Given the description of an element on the screen output the (x, y) to click on. 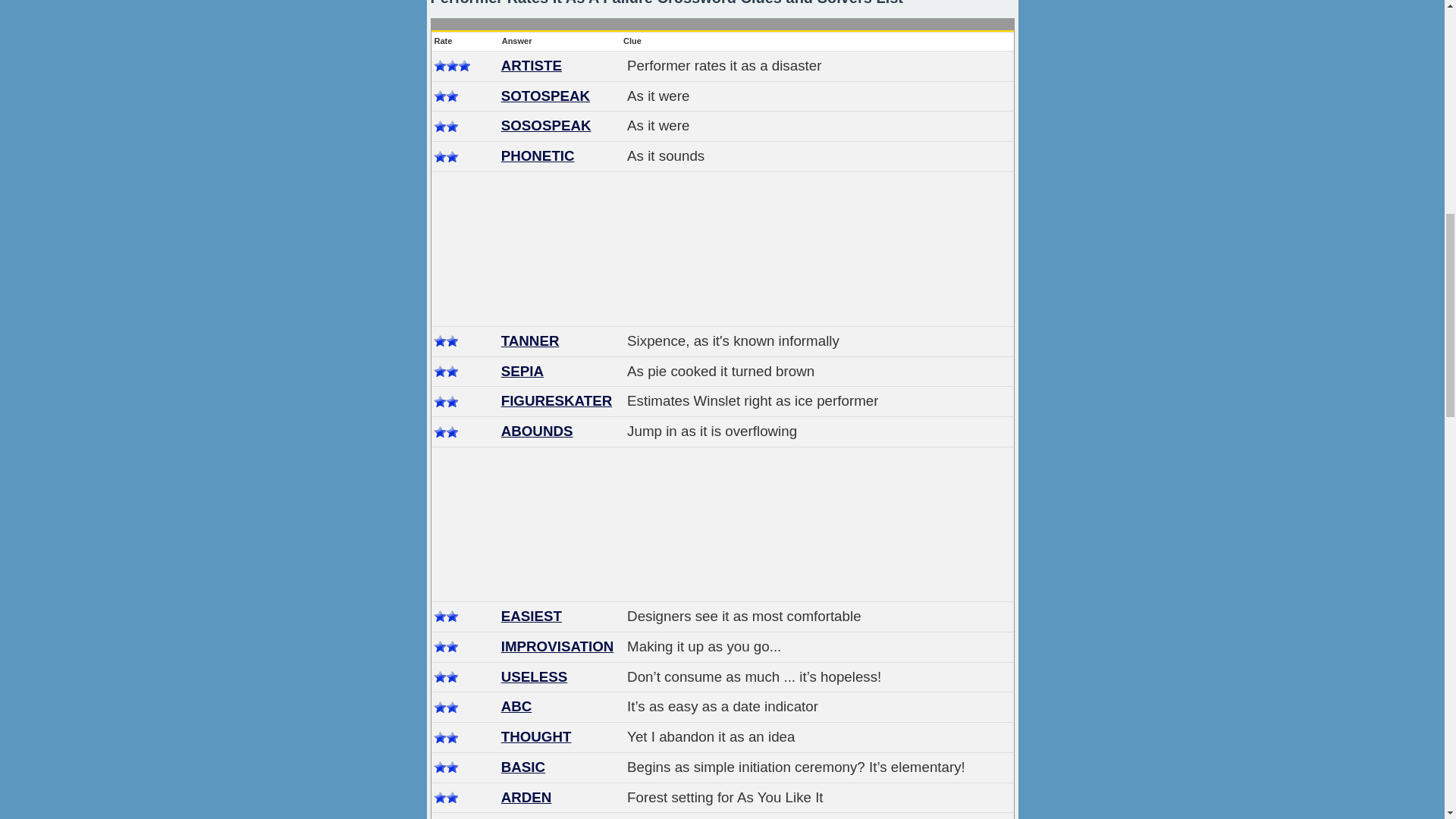
SOTOSPEAK (544, 95)
PHONETIC (537, 155)
ARTISTE (531, 65)
EASIEST (531, 616)
ABOUNDS (536, 430)
USELESS (533, 676)
Advertisement (722, 248)
IMPROVISATION (557, 646)
ARDEN (525, 797)
SOSOSPEAK (545, 125)
ABC (516, 706)
SEPIA (521, 371)
THOUGHT (536, 736)
Advertisement (722, 524)
BASIC (522, 766)
